Given the description of an element on the screen output the (x, y) to click on. 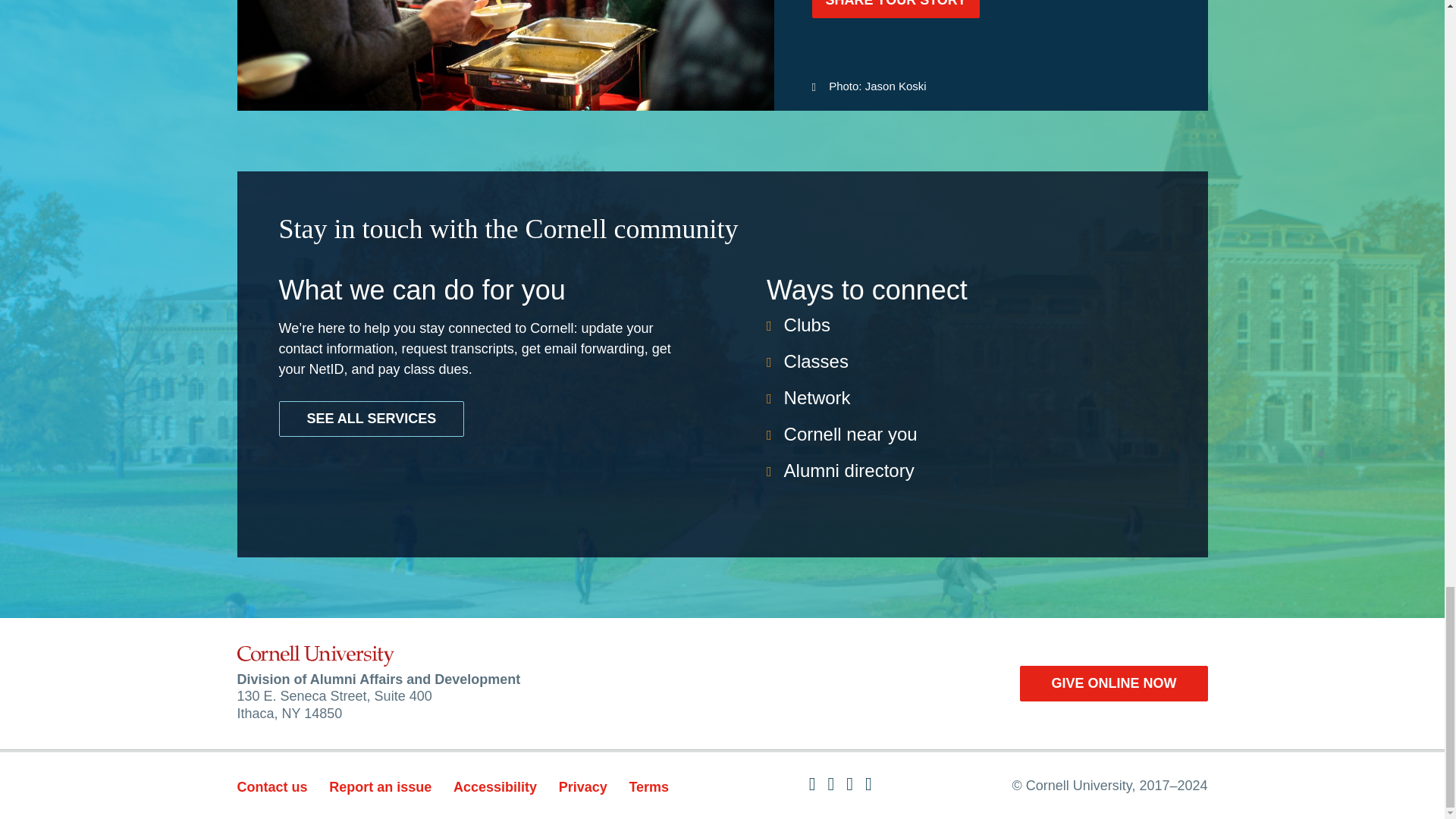
Network (817, 397)
Classes (816, 361)
SEE ALL SERVICES (371, 418)
Clubs (806, 324)
SHARE YOUR STORY (894, 9)
Alumni directory (849, 470)
Cornell near you (850, 434)
